Given the description of an element on the screen output the (x, y) to click on. 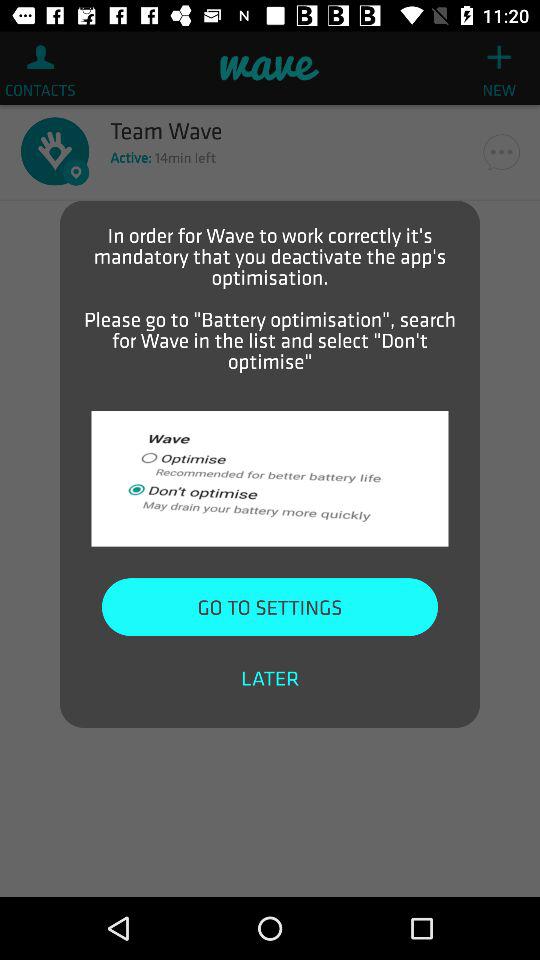
swipe to in order for item (270, 297)
